Given the description of an element on the screen output the (x, y) to click on. 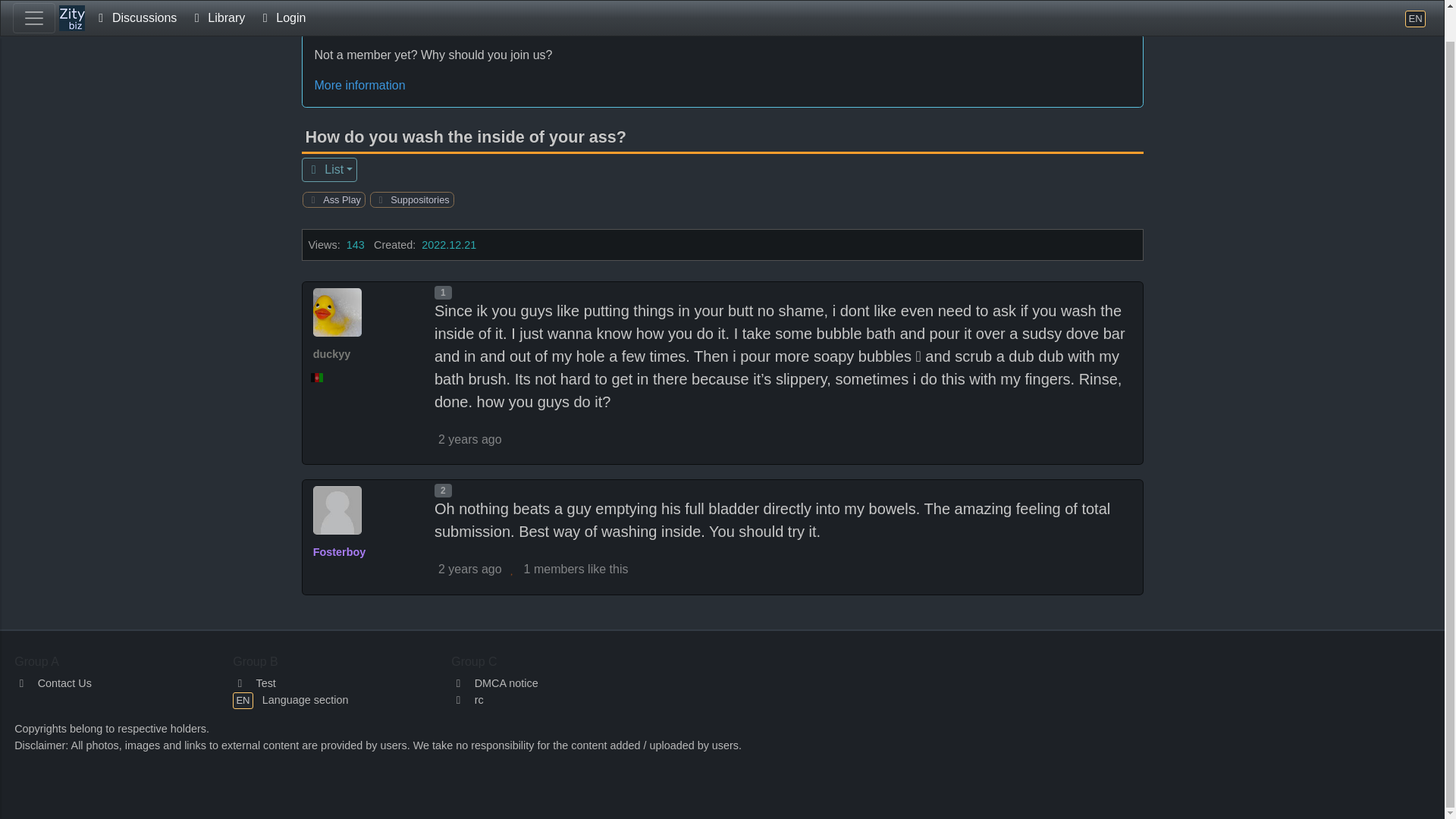
Library (216, 0)
Ass Play (169, 17)
  Test (254, 683)
Ass Play (339, 199)
Discussions (84, 17)
  Contact Us (52, 683)
EN   Language section (289, 699)
  rc (467, 699)
List (329, 169)
Suppositories (257, 17)
Login (280, 0)
Suppositories (417, 199)
